Given the description of an element on the screen output the (x, y) to click on. 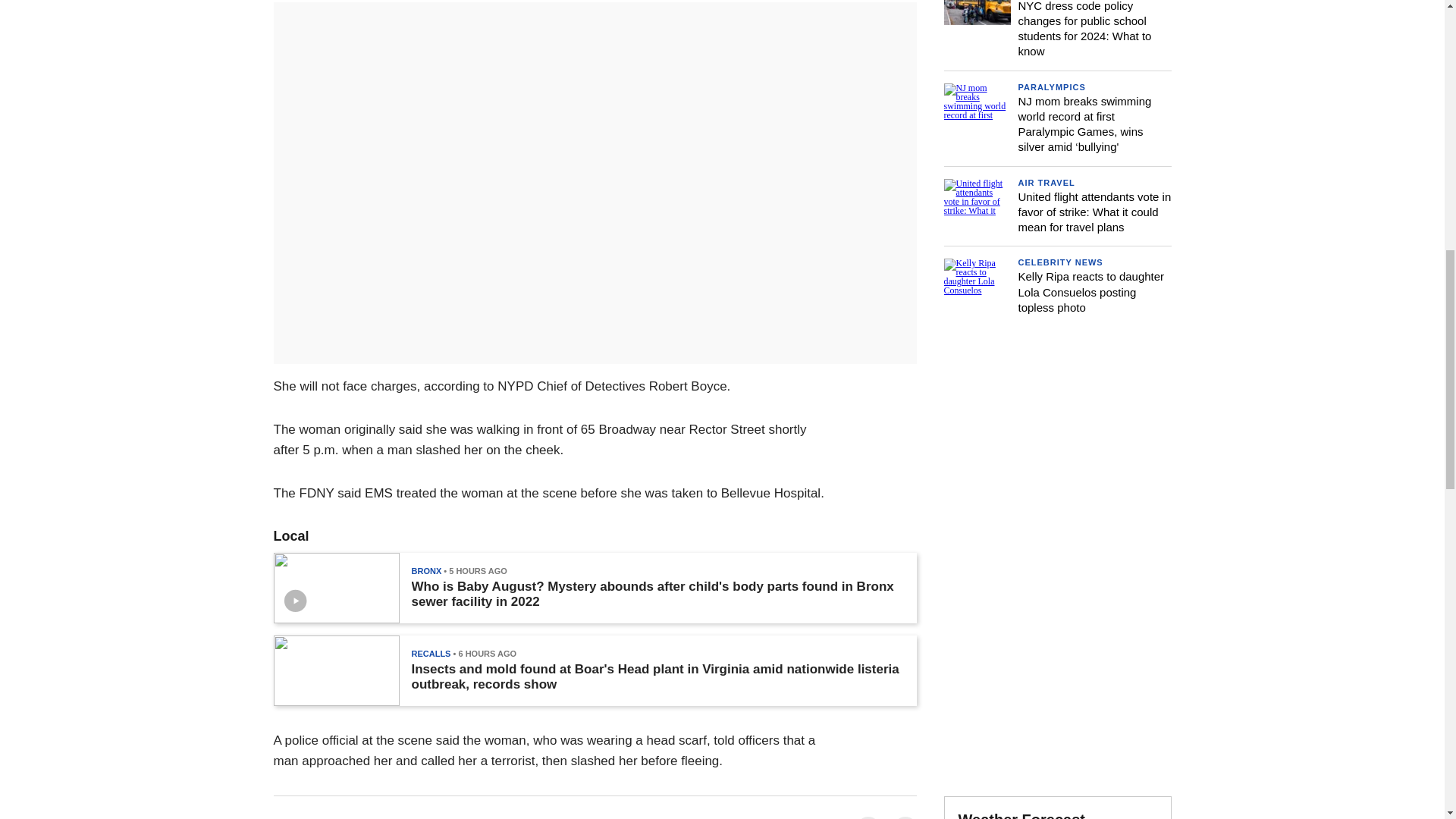
BRONX (425, 570)
RECALLS (429, 653)
